Given the description of an element on the screen output the (x, y) to click on. 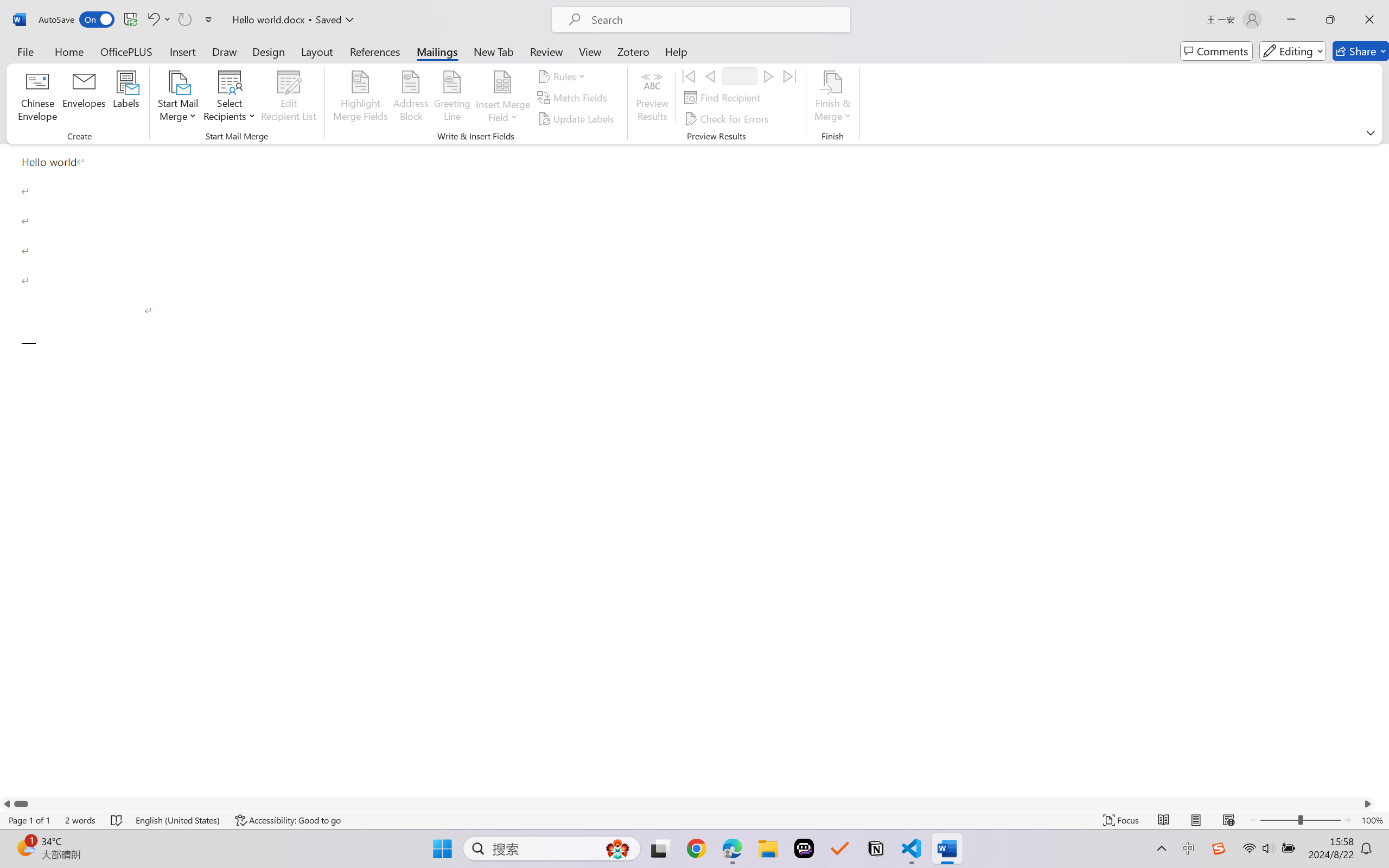
Rules (563, 75)
Language English (United States) (178, 819)
Focus  (1121, 819)
Start Mail Merge (177, 97)
Design (268, 51)
First (688, 75)
Update Labels (576, 118)
Class: NetUIScrollBar (687, 803)
Record (739, 76)
Zoom In (1348, 819)
AutoSave (76, 19)
AutomationID: BadgeAnchorLargeTicker (24, 847)
Layout (316, 51)
